Given the description of an element on the screen output the (x, y) to click on. 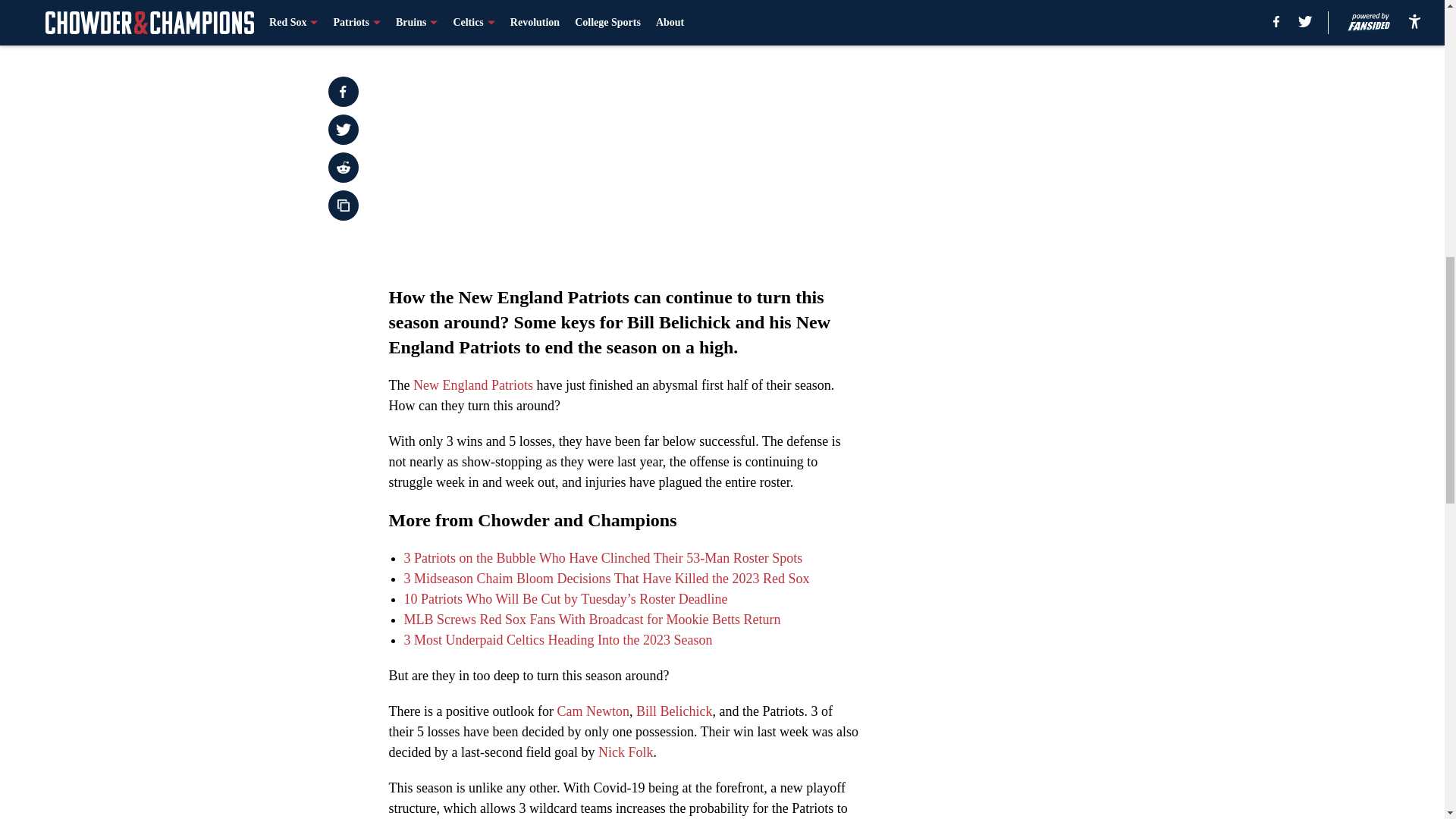
New England Patriots (472, 385)
Bill Belichick (674, 711)
3 Most Underpaid Celtics Heading Into the 2023 Season (557, 639)
Cam Newton (592, 711)
Nick Folk (625, 752)
